Given the description of an element on the screen output the (x, y) to click on. 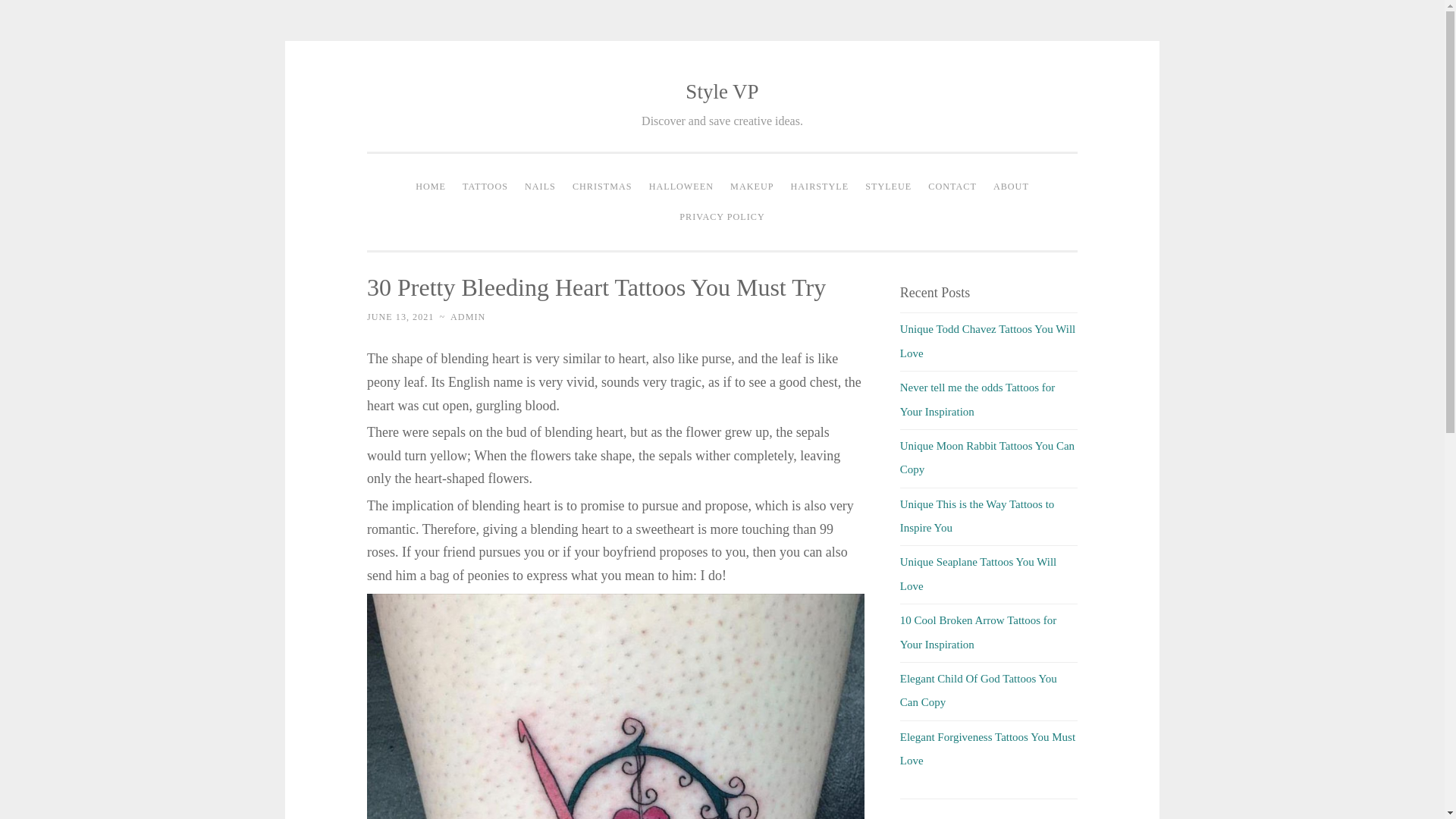
Style VP (721, 91)
Unique Moon Rabbit Tattoos You Can Copy (986, 457)
10 Cool Broken Arrow Tattoos for Your Inspiration (978, 632)
HAIRSTYLE (820, 186)
HOME (430, 186)
Unique Todd Chavez Tattoos You Will Love (987, 340)
Elegant Forgiveness Tattoos You Must Love (987, 748)
Never tell me the odds Tattoos for Your Inspiration (976, 398)
PRIVACY POLICY (721, 216)
HALLOWEEN (681, 186)
CHRISTMAS (602, 186)
Unique This is the Way Tattoos to Inspire You (976, 515)
NAILS (540, 186)
Skip to content (400, 91)
CONTACT (952, 186)
